Given the description of an element on the screen output the (x, y) to click on. 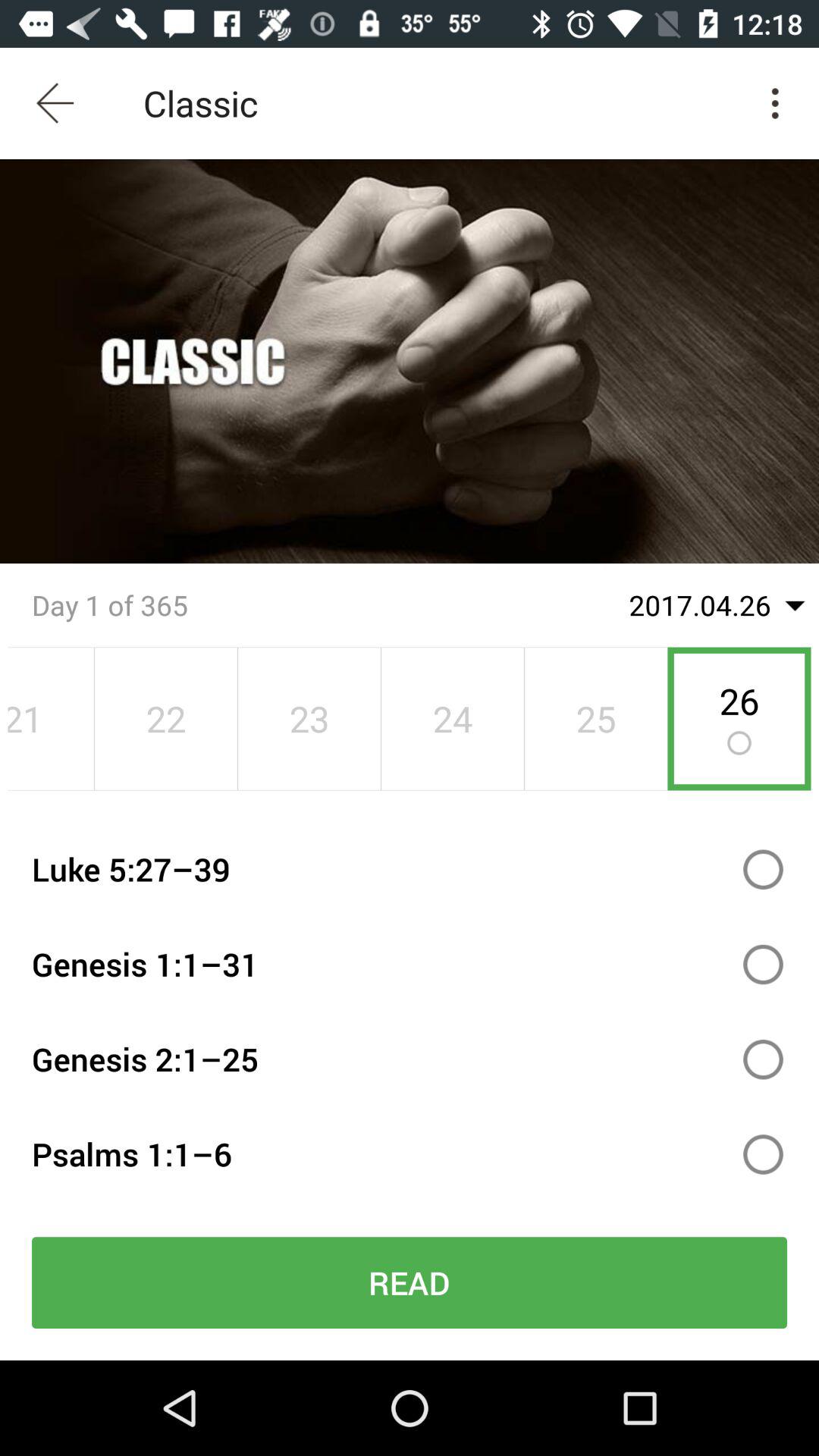
select genesis 2:1-25 (763, 1059)
